Given the description of an element on the screen output the (x, y) to click on. 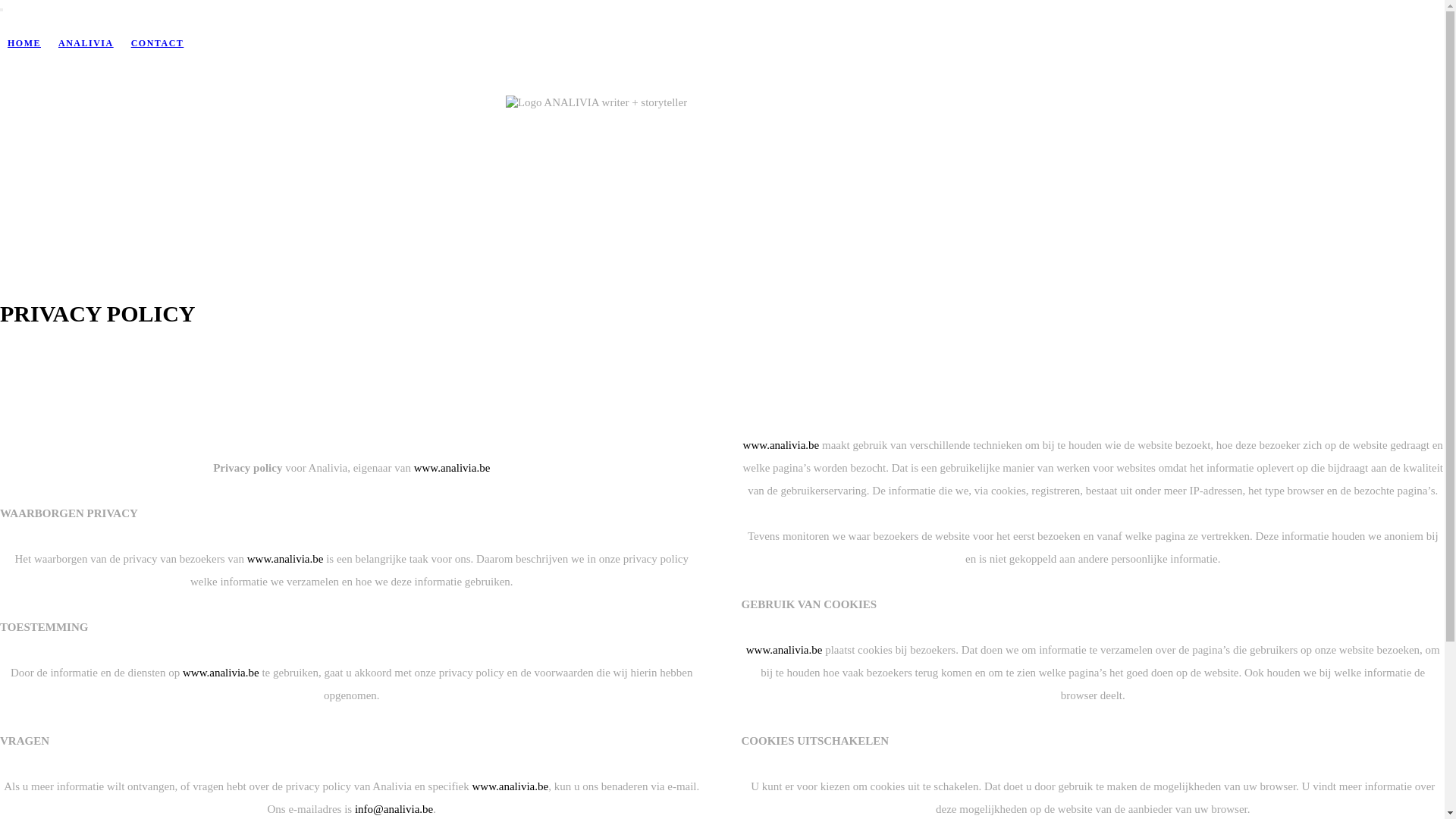
www.analivia.be Element type: text (452, 467)
www.analivia.be Element type: text (285, 558)
www.analivia.be Element type: text (784, 649)
www.analivia.be Element type: text (510, 785)
CONTACT Element type: text (157, 42)
ANALIVIA Element type: text (85, 42)
www.analivia.be Element type: text (220, 671)
HOME Element type: text (23, 42)
info@analivia.be Element type: text (393, 808)
www.analivia.be Element type: text (781, 444)
Logo ANALIVIA writer + storyteller Element type: hover (596, 102)
